Given the description of an element on the screen output the (x, y) to click on. 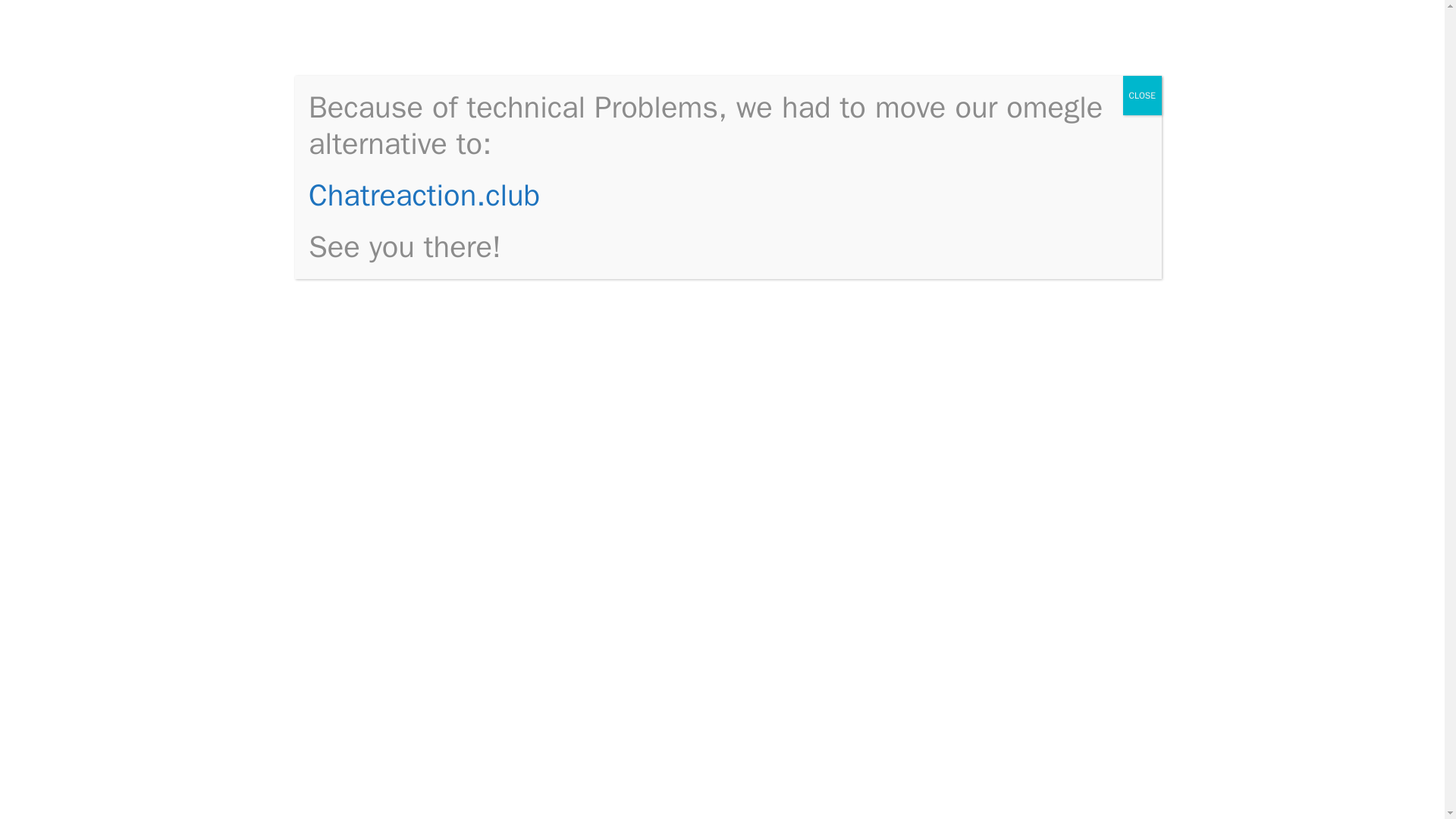
Post Comment (391, 605)
Dirty online chat (390, 44)
